Given the description of an element on the screen output the (x, y) to click on. 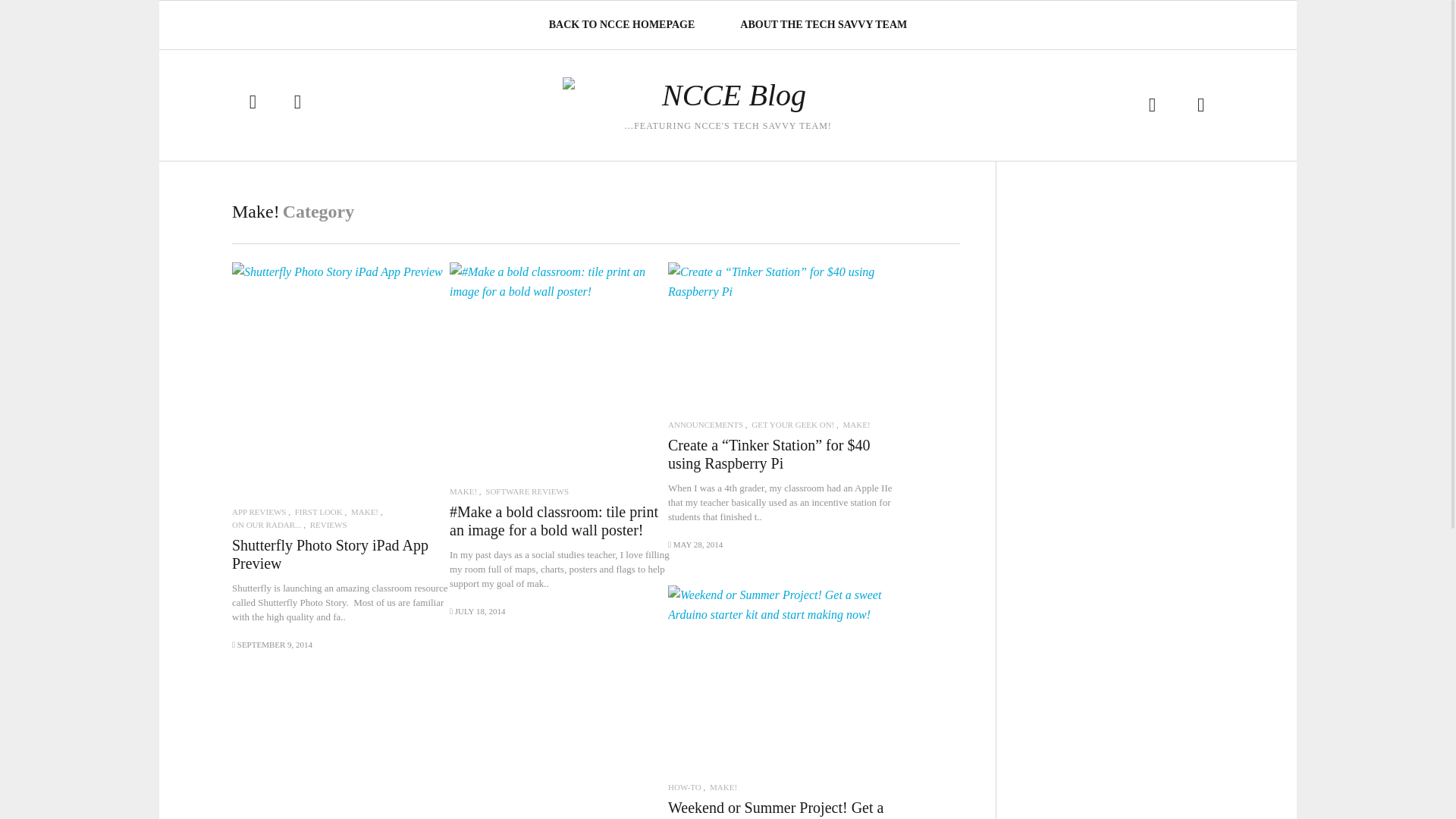
MAKE! (856, 424)
View all posts in On Our Radar... (266, 524)
View all posts in Make! (856, 424)
MAKE! (463, 491)
View all posts in Reviews (328, 524)
FIRST LOOK (318, 511)
REVIEWS (328, 524)
ON OUR RADAR... (266, 524)
ANNOUNCEMENTS (705, 424)
ABOUT THE TECH SAVVY TEAM (823, 24)
twitter (252, 101)
SOFTWARE REVIEWS (526, 491)
APP REVIEWS (258, 511)
GET YOUR GEEK ON! (792, 424)
